Given the description of an element on the screen output the (x, y) to click on. 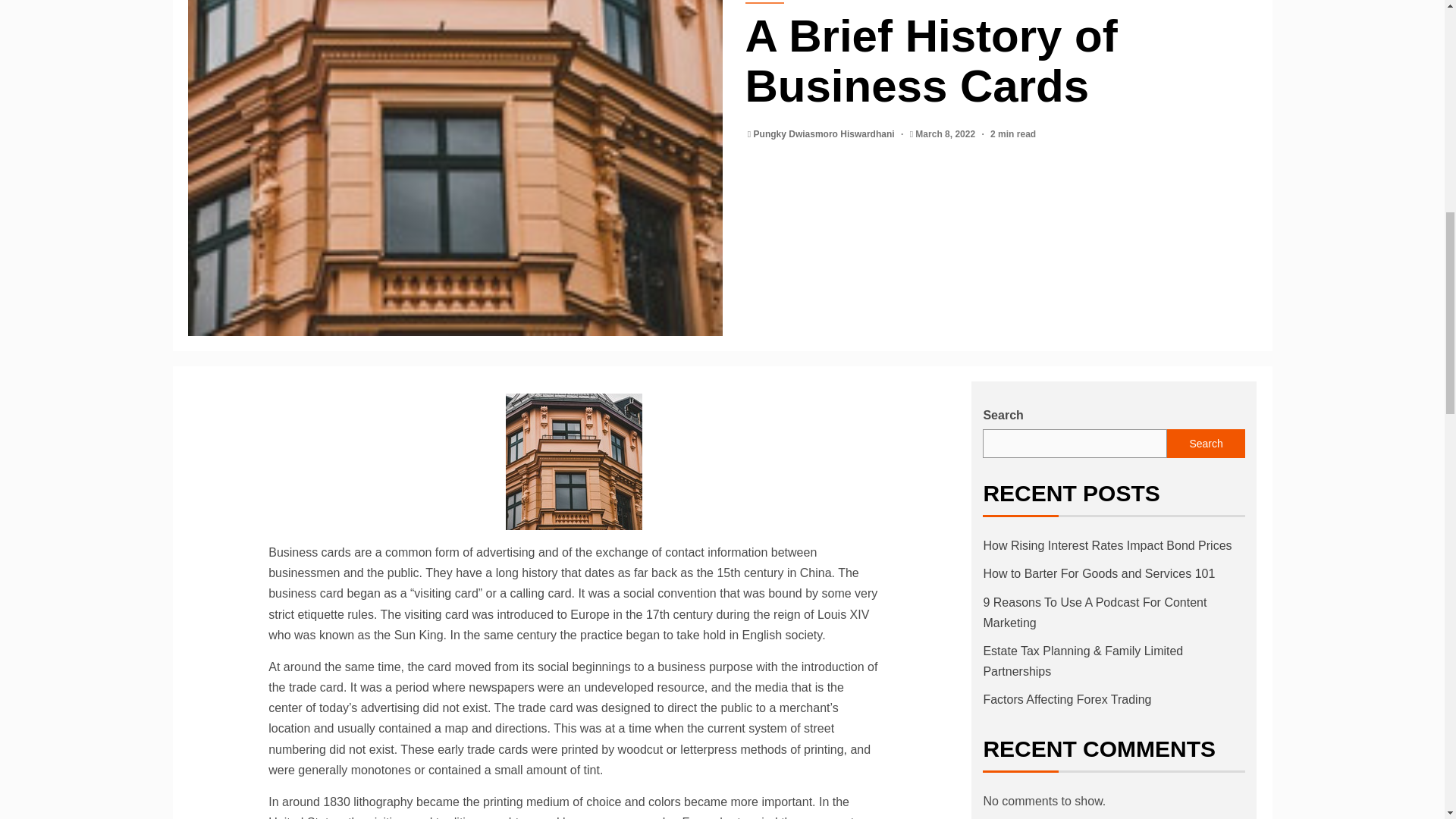
A Brief History of Business Cards (573, 461)
Pungky Dwiasmoro Hiswardhani (825, 133)
BUSINESS (763, 2)
